Given the description of an element on the screen output the (x, y) to click on. 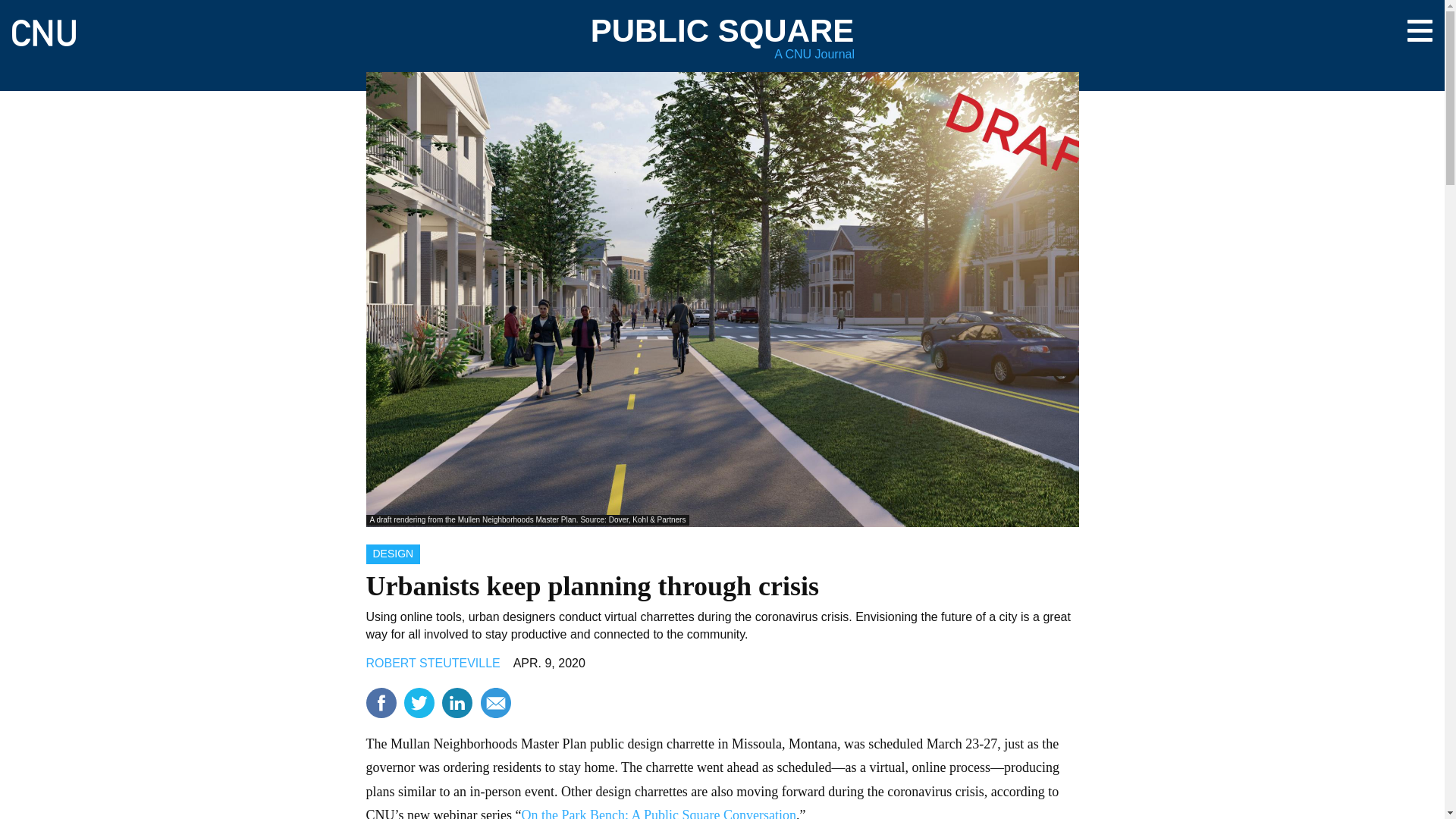
DESIGN (392, 554)
PUBLIC SQUARE (722, 30)
Facebook (380, 702)
Twitter (418, 702)
MailTo (495, 702)
ROBERT STEUTEVILLE (432, 662)
Toggle navigation (1419, 30)
LinkedIn (456, 702)
Home (43, 25)
On the Park Bench: A Public Square Conversation (657, 813)
